Given the description of an element on the screen output the (x, y) to click on. 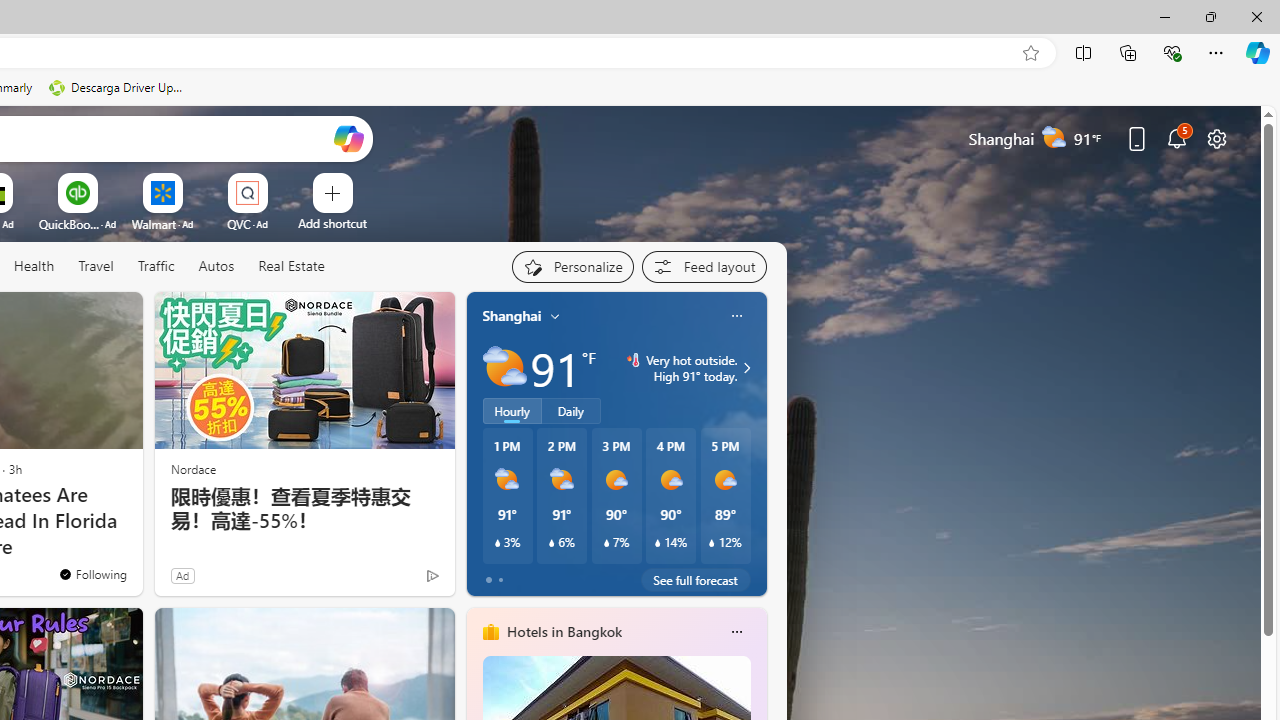
Health (34, 265)
Traffic (155, 267)
Shanghai (511, 315)
Page settings (1216, 138)
Daily (571, 411)
Partly sunny (504, 368)
Travel (95, 265)
Autos (215, 265)
Hotels in Bangkok (563, 631)
